Given the description of an element on the screen output the (x, y) to click on. 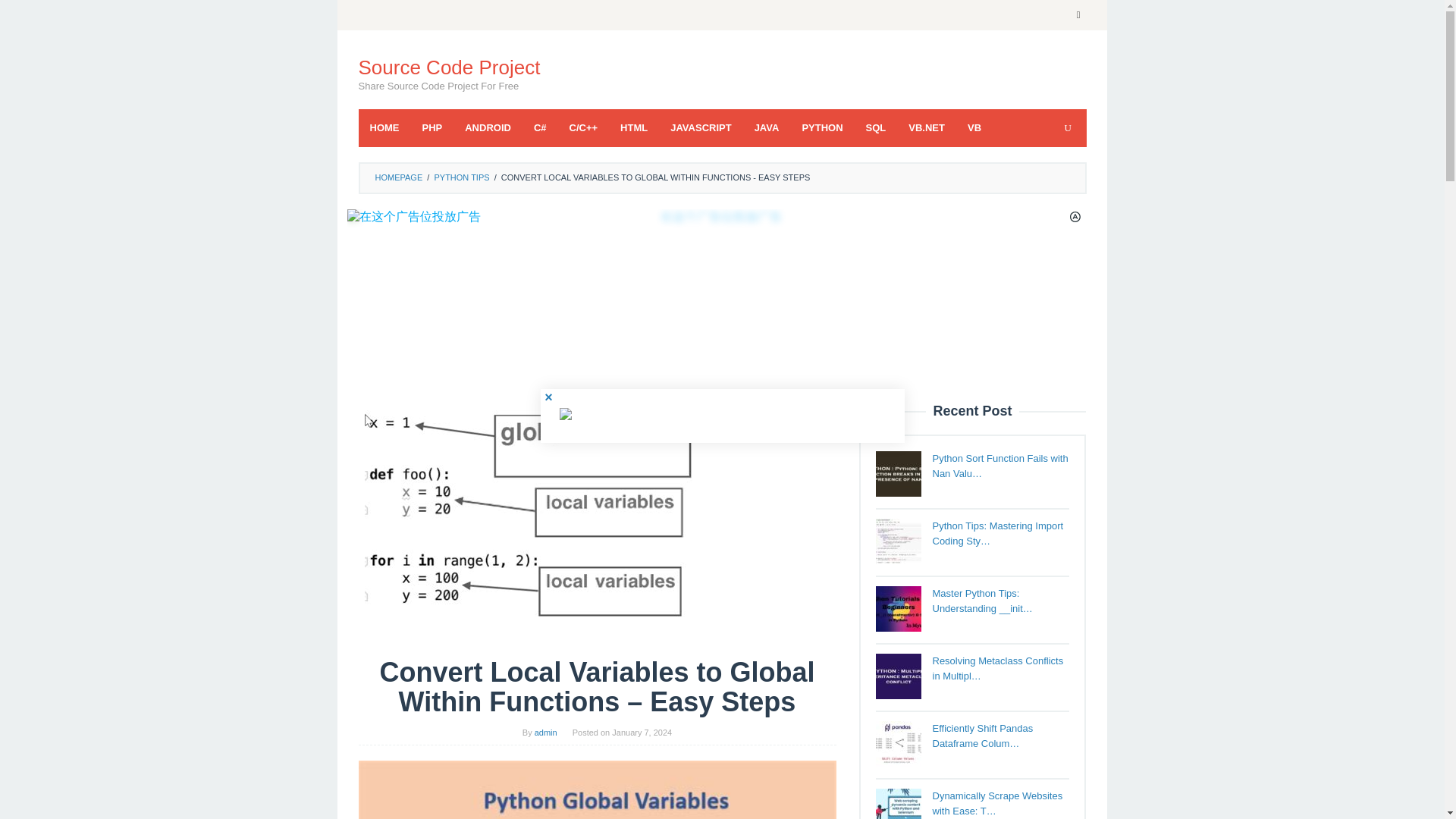
VB.NET (926, 127)
HTML (633, 127)
PHP (432, 127)
Python Sort Function Fails with Nan Values. (897, 473)
HOMEPAGE (398, 176)
PYTHON (821, 127)
JAVA (766, 127)
SQL (876, 127)
Source Code Project (449, 67)
